Given the description of an element on the screen output the (x, y) to click on. 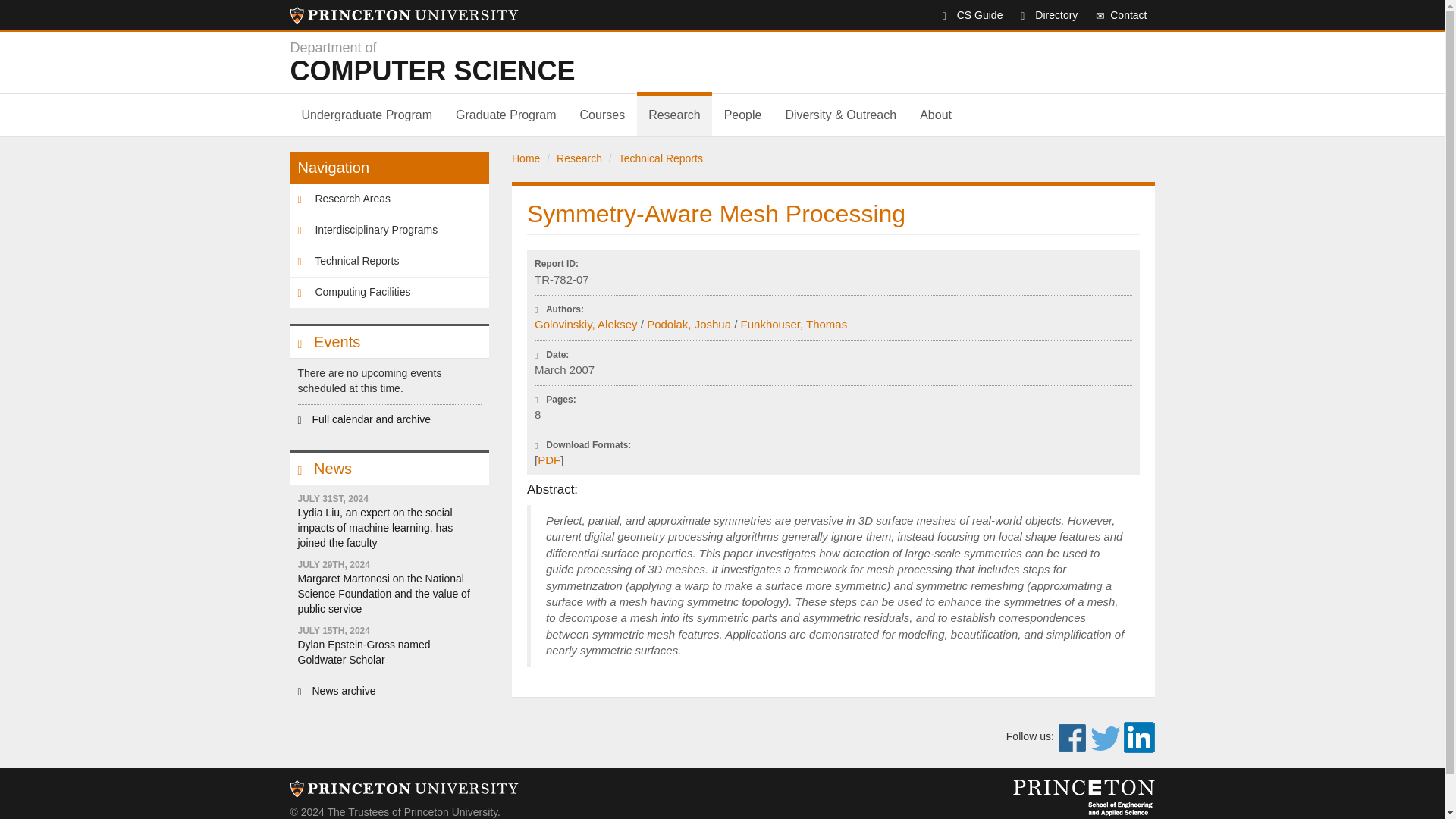
Undergraduate Program (366, 115)
Skip to main content (574, 61)
Graduate Program (403, 14)
Contact (505, 115)
CS Guide (1113, 15)
Directory (965, 15)
